Given the description of an element on the screen output the (x, y) to click on. 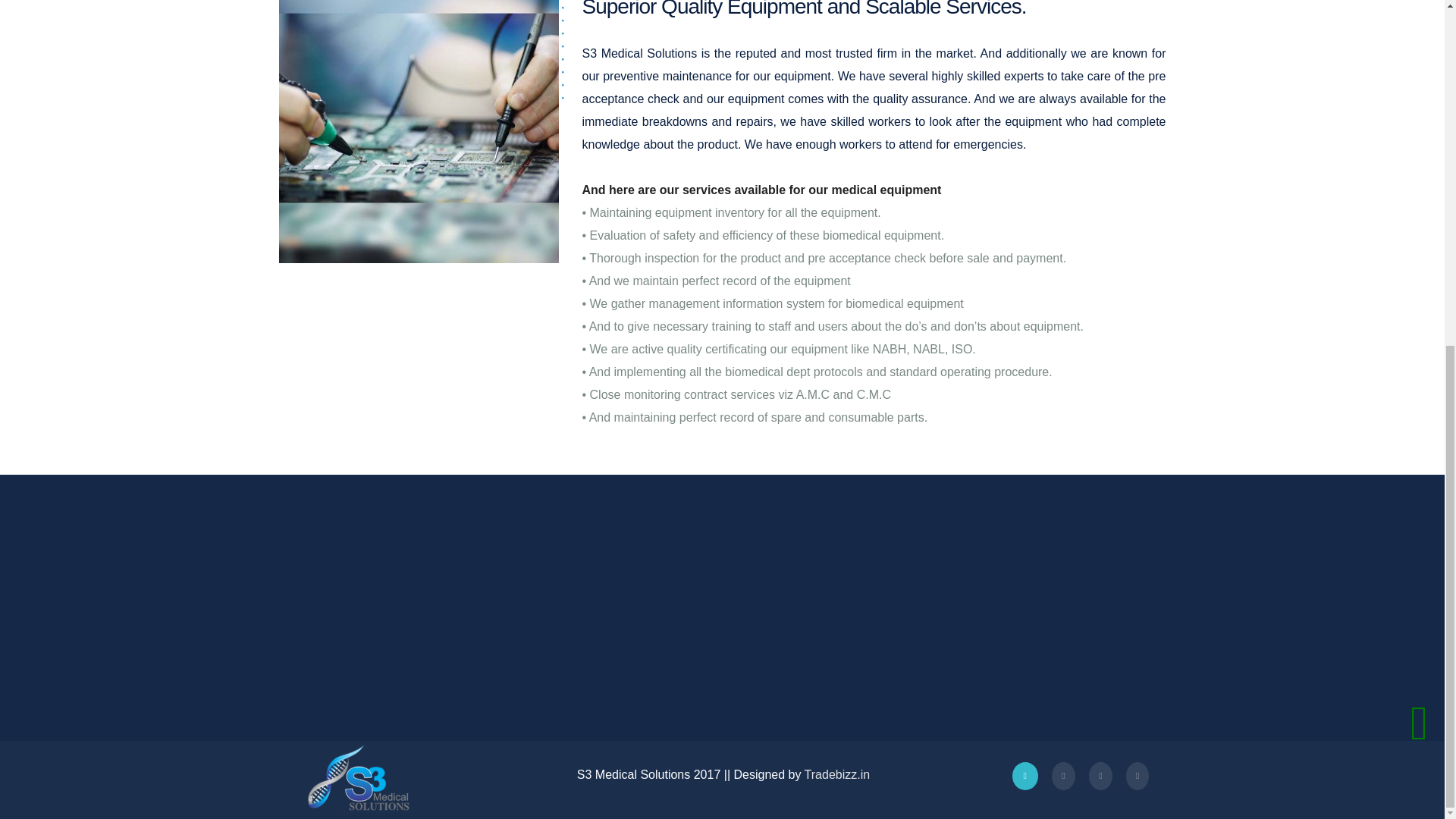
Tradebizz.in (837, 774)
